Given the description of an element on the screen output the (x, y) to click on. 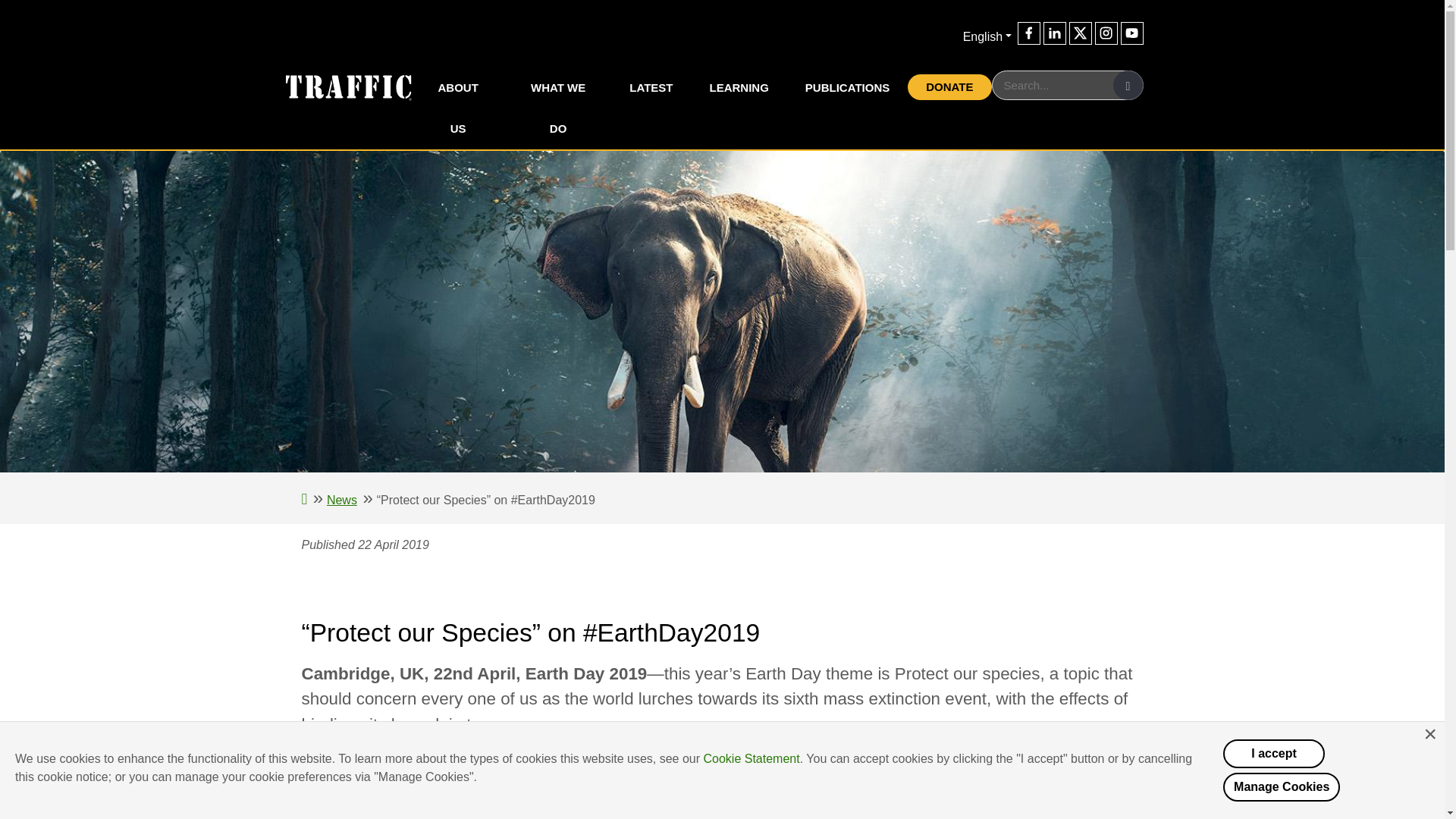
Visit our Facebook Page (1029, 33)
Link to TRAFFIC.org home page (338, 86)
Follow us on Twitter (1080, 33)
LATEST (650, 87)
Follow us on Instagram (1106, 33)
English (986, 36)
ABOUT US (456, 108)
Contact us at LinkedIn (1054, 33)
LEARNING (739, 87)
News (341, 499)
DONATE (949, 86)
WHAT WE DO (558, 108)
PUBLICATIONS (847, 87)
Visit our YouTube Channel (1131, 33)
